Given the description of an element on the screen output the (x, y) to click on. 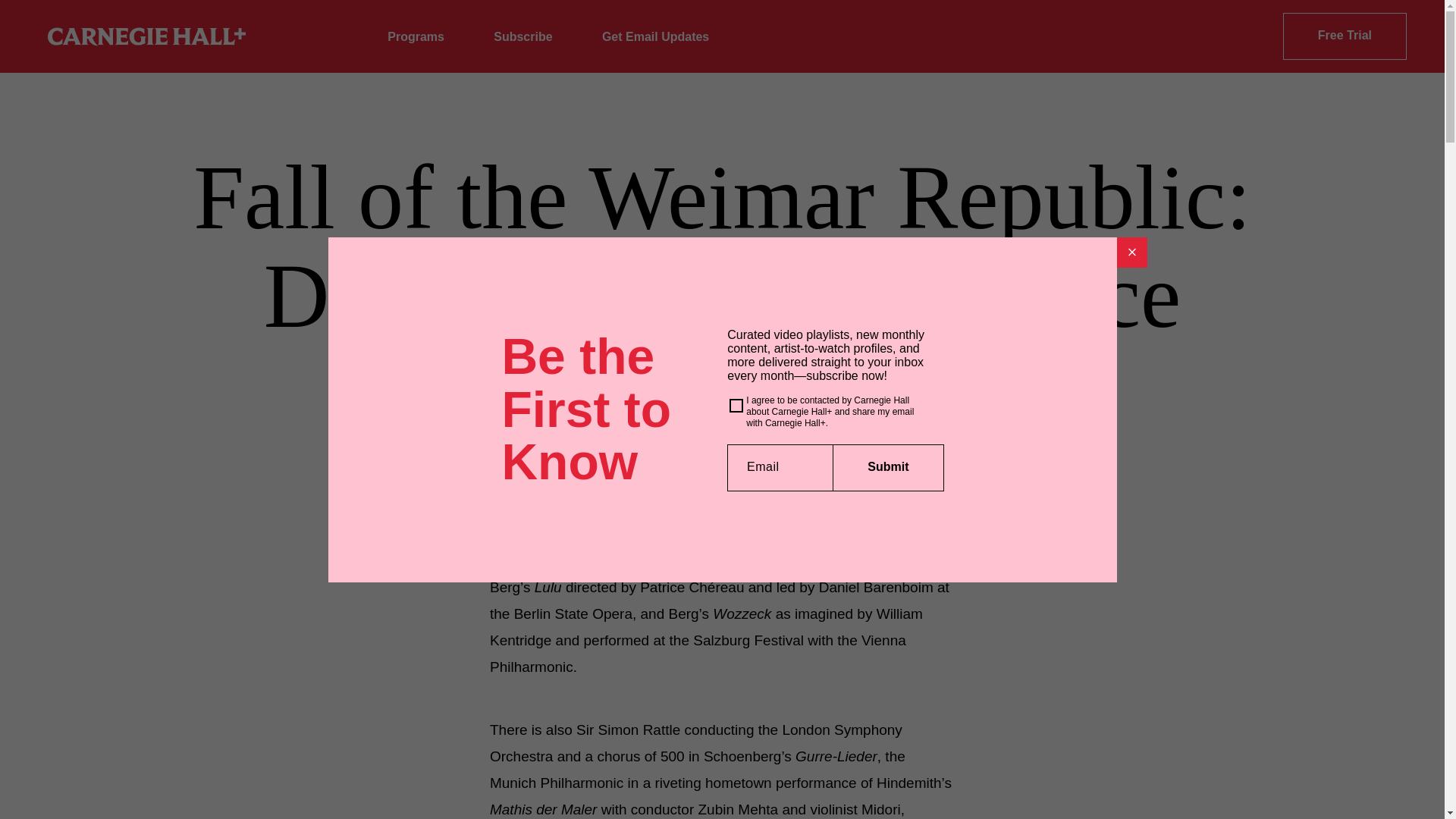
Get Email Updates (655, 36)
Fall of the Weimar Republic: Dancing on the Precipice (758, 534)
Free Trial (1344, 36)
Programs (415, 36)
Subscribe (522, 36)
